Given the description of an element on the screen output the (x, y) to click on. 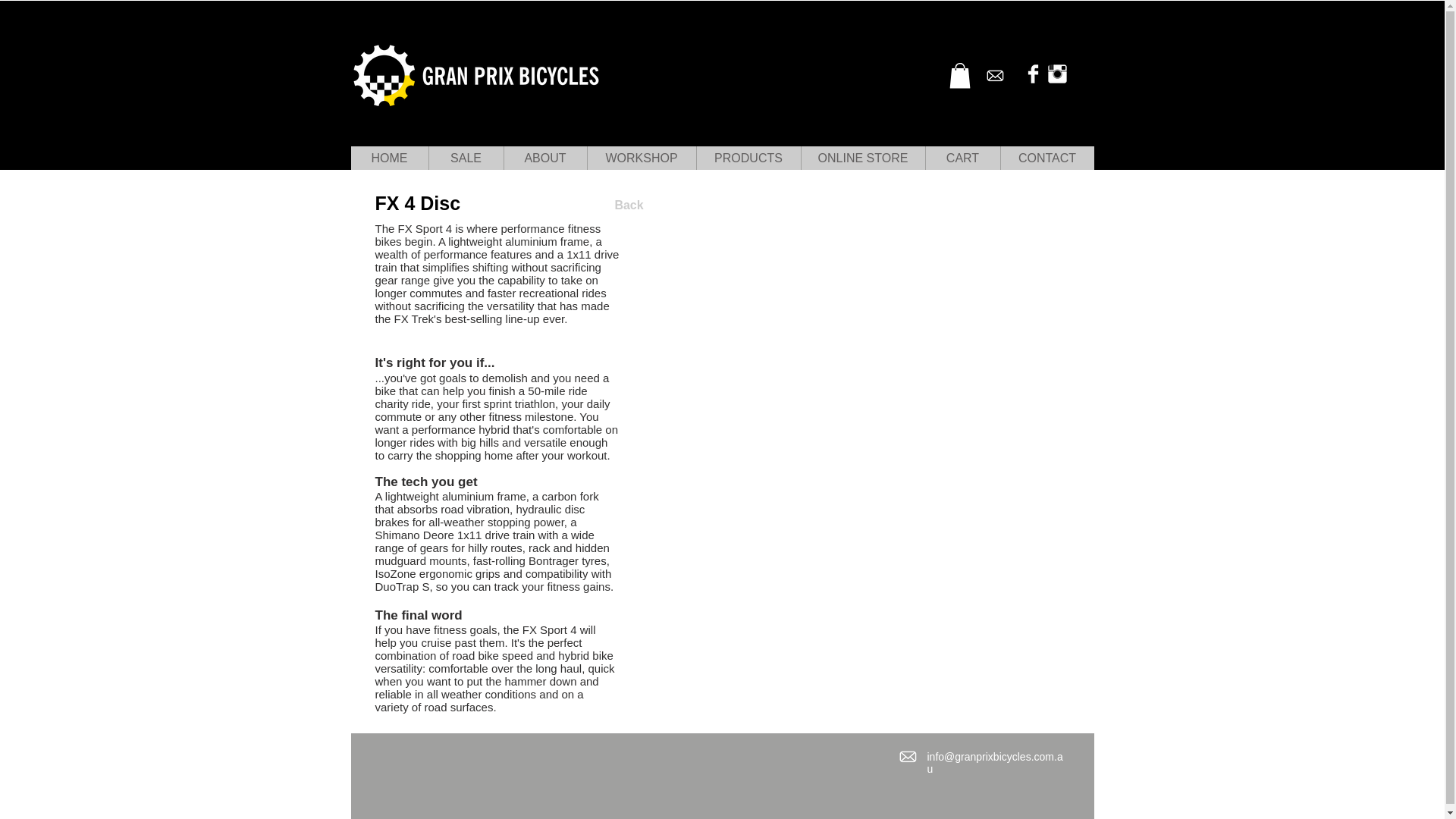
SALE (465, 157)
WORKSHOP (640, 157)
Back (628, 205)
ABOUT (544, 157)
Gran Prix Bicycles (475, 76)
CART (962, 157)
ONLINE STORE (862, 157)
CONTACT (1045, 157)
PRODUCTS (747, 157)
HOME (389, 157)
